Given the description of an element on the screen output the (x, y) to click on. 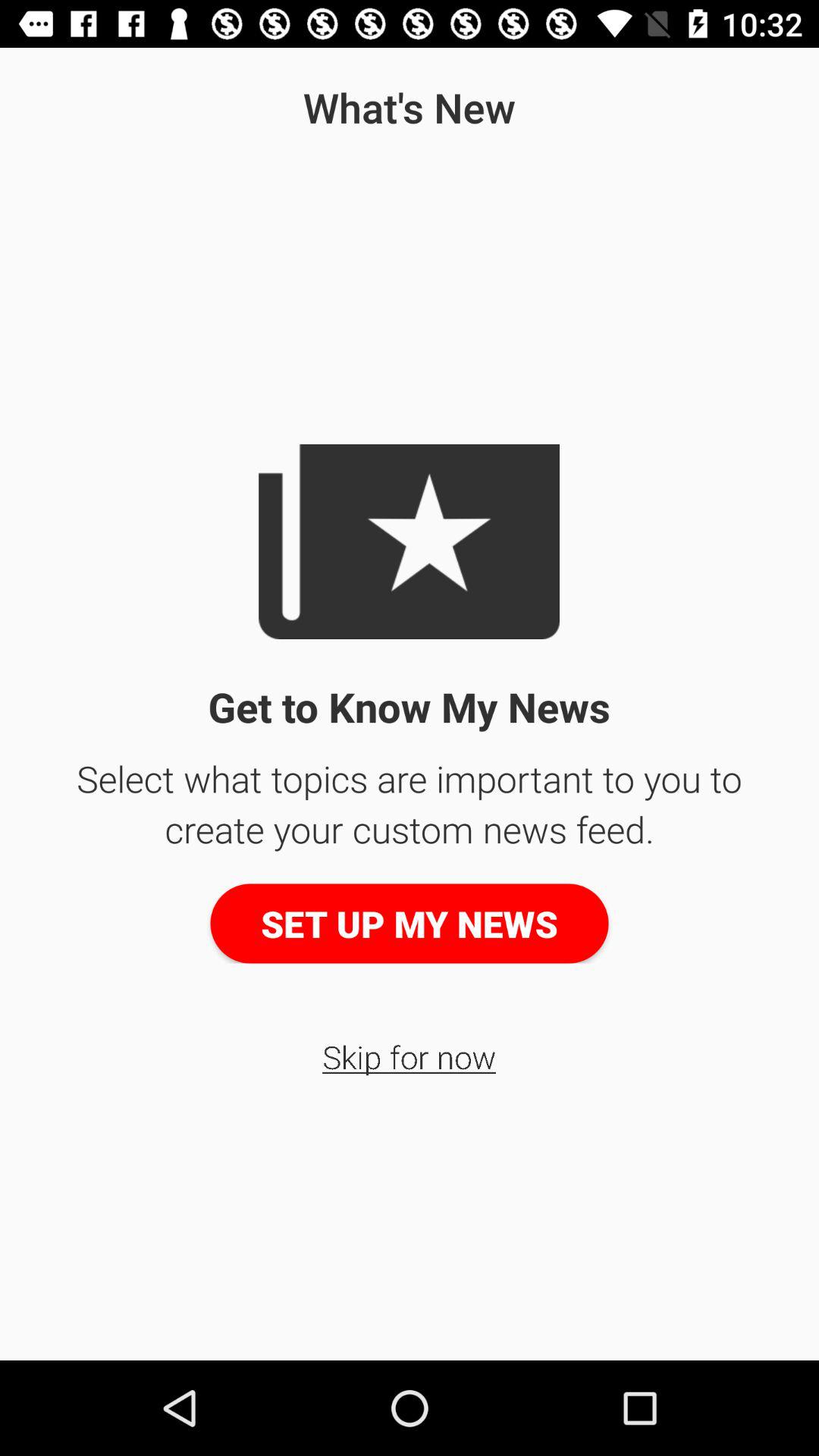
jump to skip for now item (408, 1056)
